Given the description of an element on the screen output the (x, y) to click on. 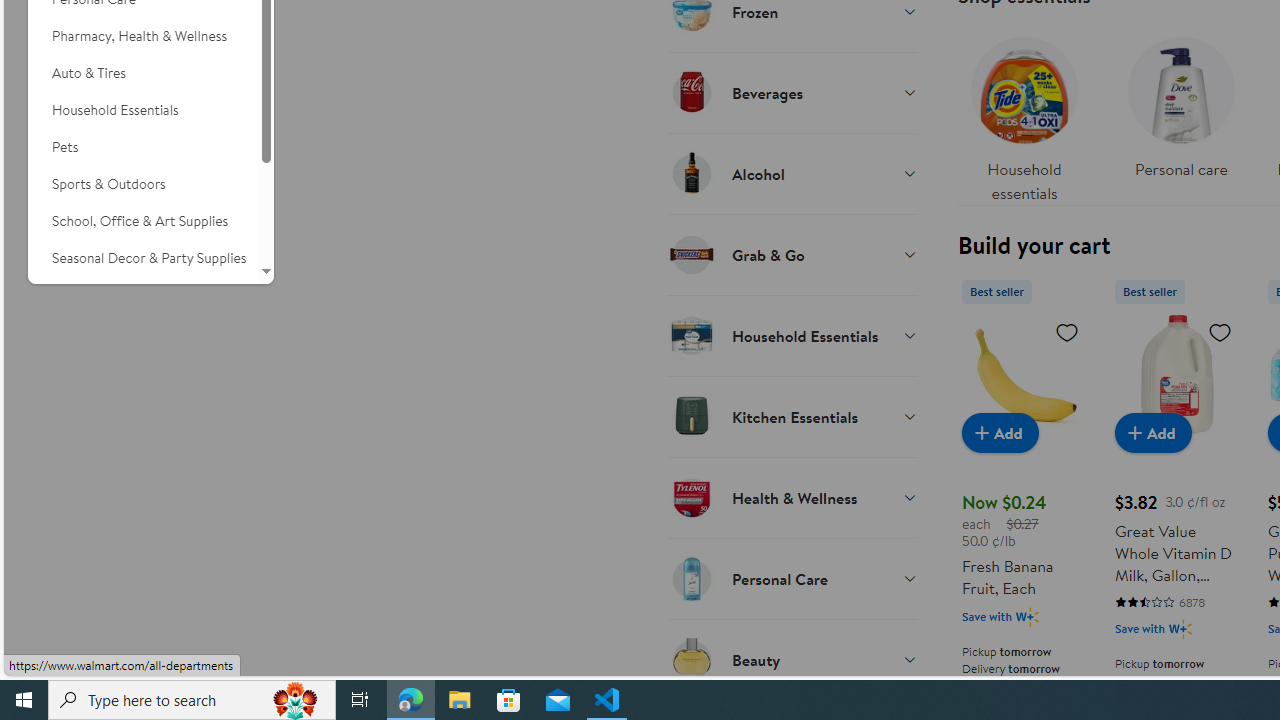
Add to cart - Fresh Banana Fruit, Each (1000, 431)
Alcohol (792, 173)
Grab & Go (792, 254)
Household Essentials (143, 110)
Sports & Outdoors (143, 184)
Health & Wellness (792, 497)
Sign in to add to Favorites list, Fresh Banana Fruit, Each (1066, 331)
Pharmacy, Health & Wellness (143, 36)
Auto & Tires (143, 73)
Seasonal Decor & Party Supplies (143, 258)
Household essentials (1024, 114)
Pharmacy, Health & Wellness (143, 36)
School, Office & Art Supplies (143, 221)
